Given the description of an element on the screen output the (x, y) to click on. 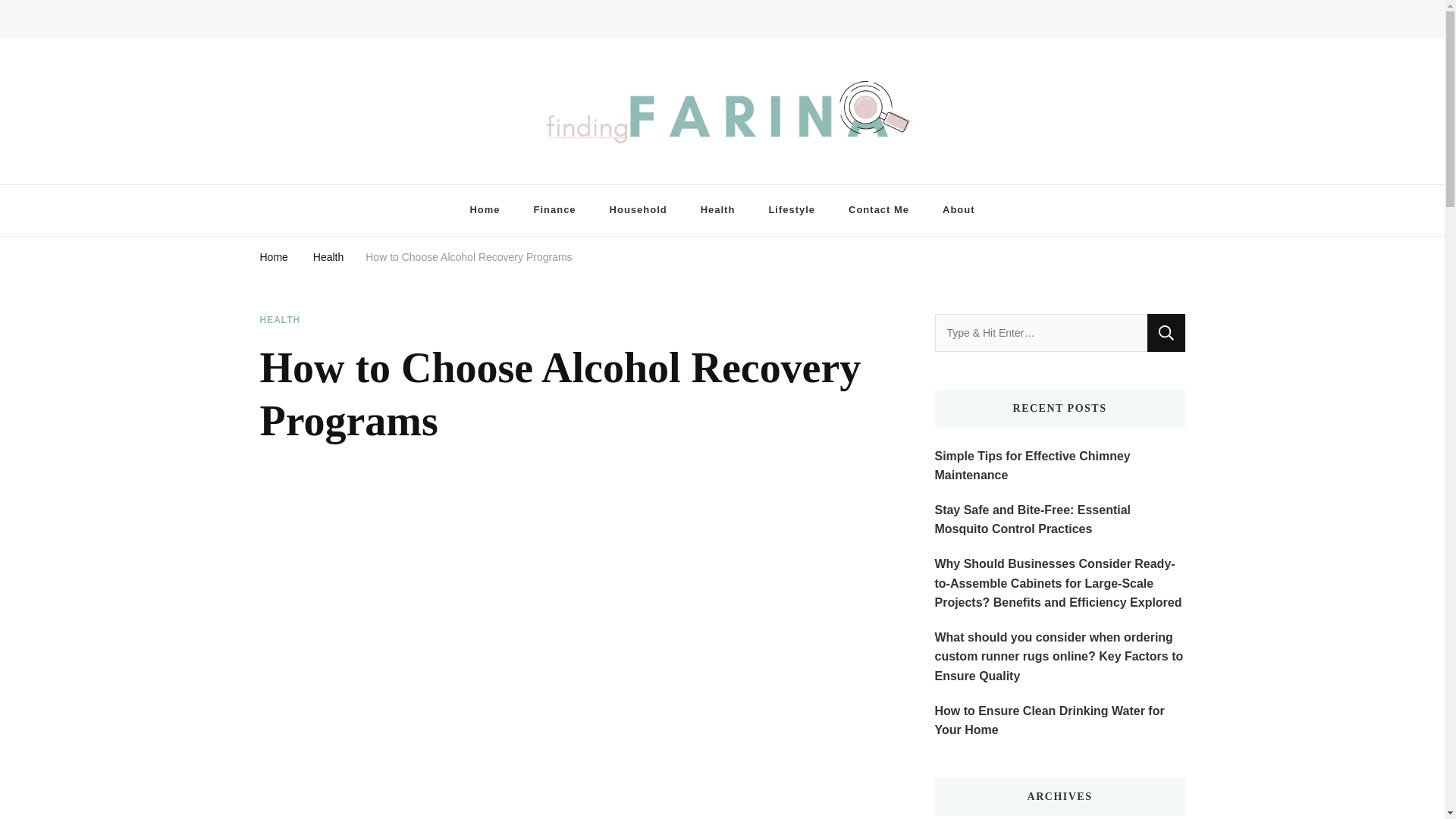
Simple Tips for Effective Chimney Maintenance (1059, 465)
Search (1166, 332)
HEALTH (279, 320)
How to Ensure Clean Drinking Water for Your Home (1059, 720)
Lifestyle (791, 210)
Home (484, 210)
Search (1166, 332)
Health (718, 210)
How to Choose Alcohol Recovery Programs (468, 256)
